Given the description of an element on the screen output the (x, y) to click on. 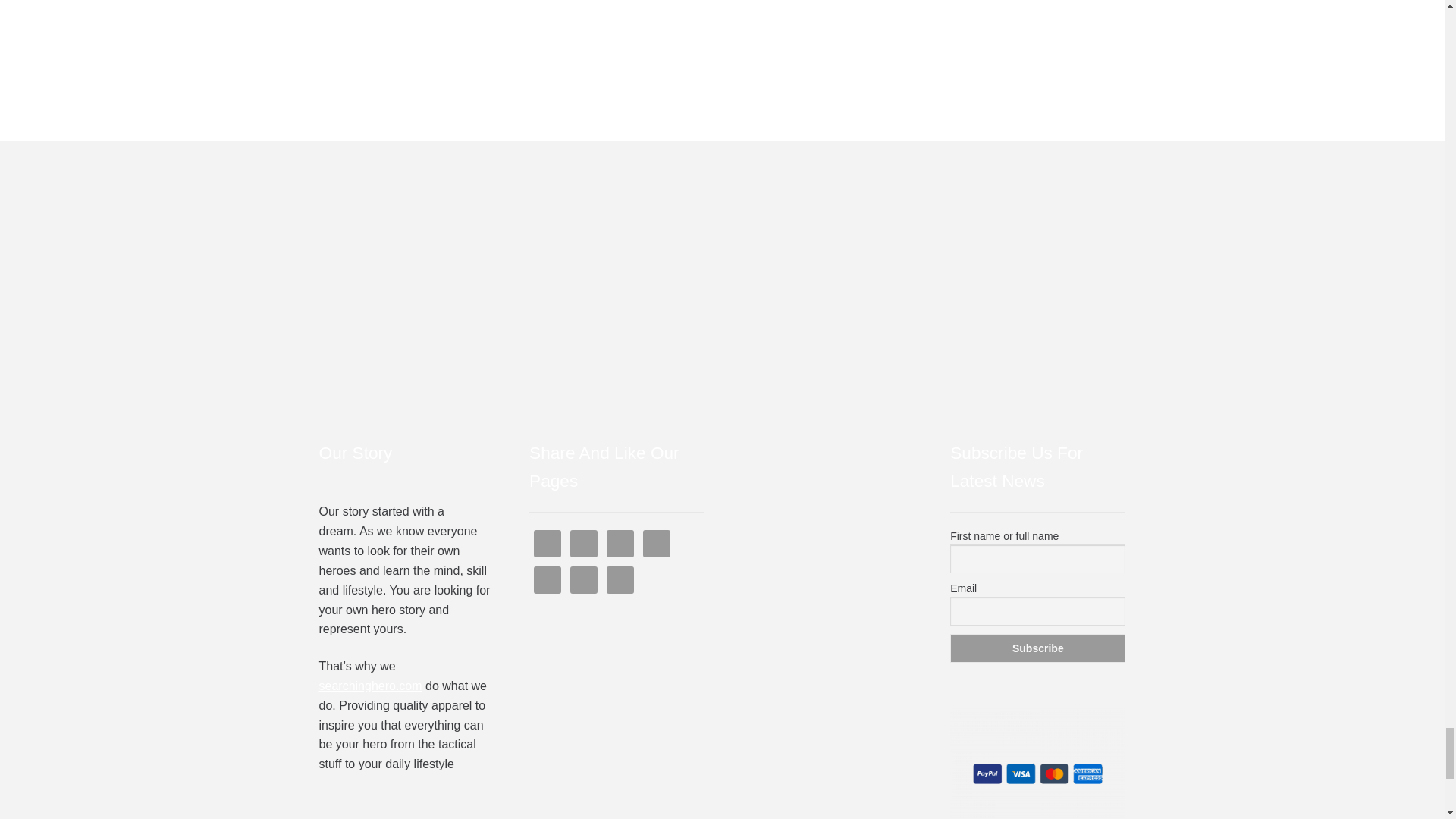
Subscribe (1037, 647)
